Given the description of an element on the screen output the (x, y) to click on. 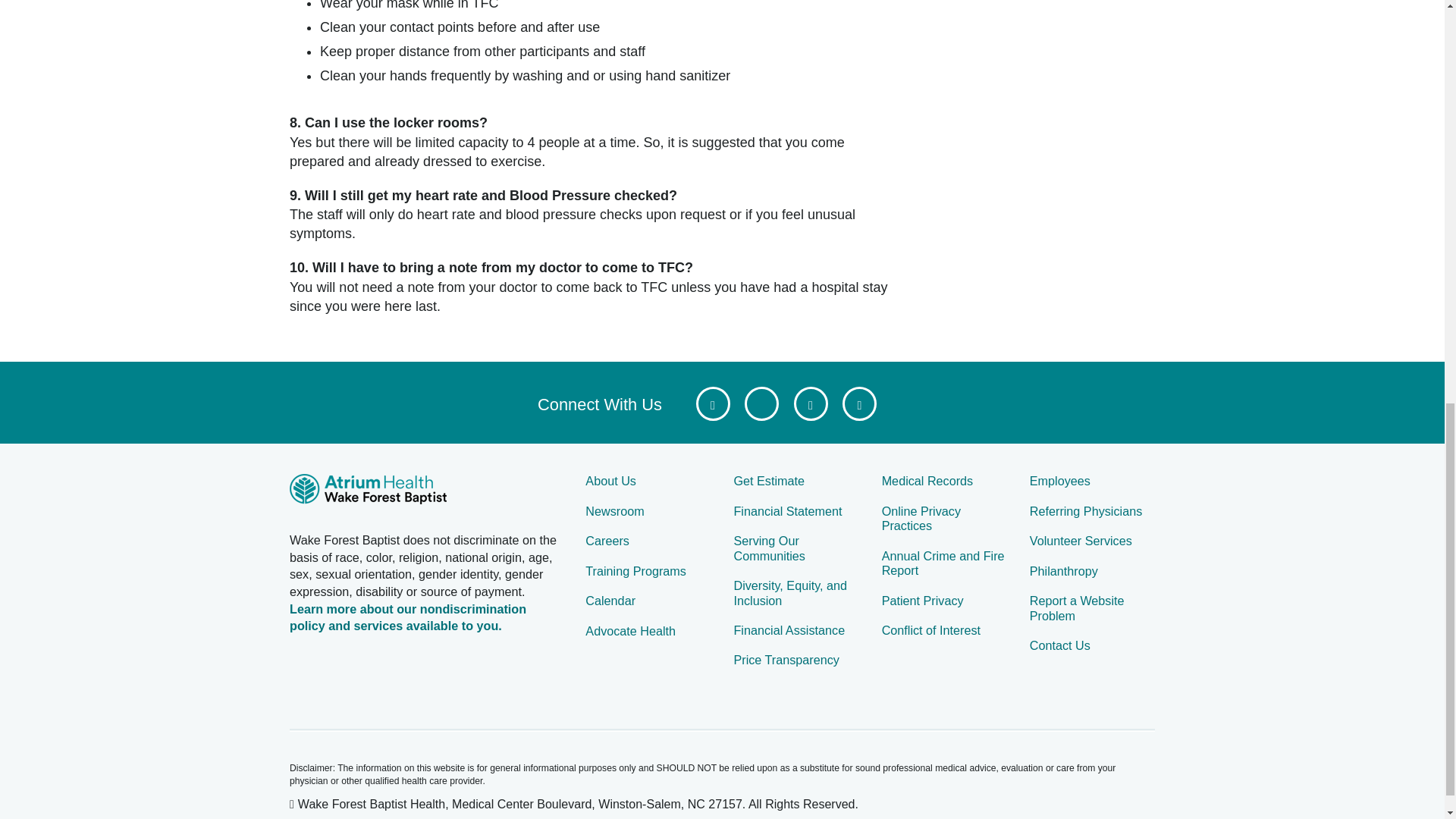
Atrium Health Wake Forest Baptist (425, 491)
YouTube (810, 403)
Instagram (859, 403)
facebook (712, 403)
twitter (761, 403)
